Given the description of an element on the screen output the (x, y) to click on. 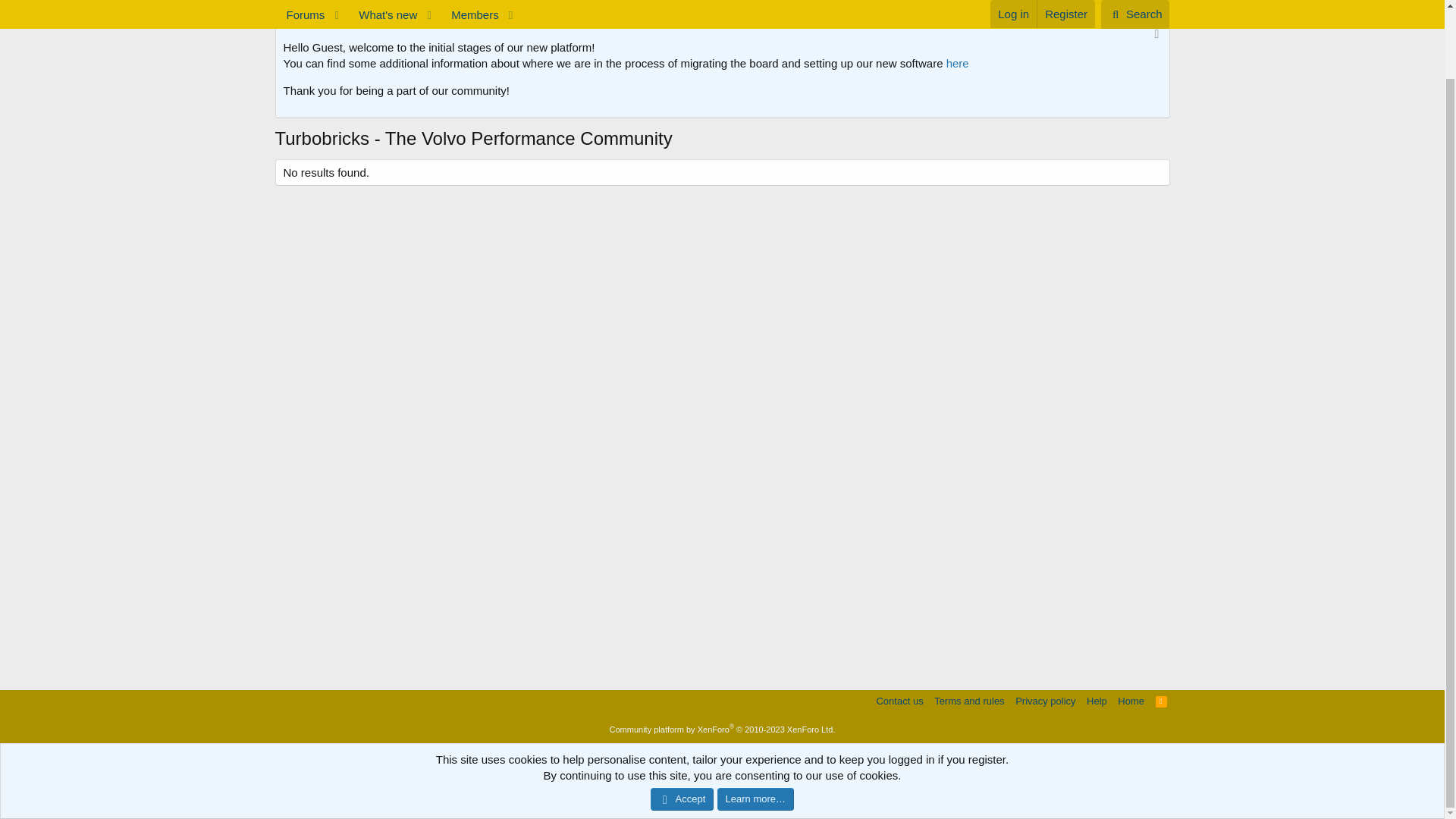
here (957, 62)
Latest activity (303, 5)
Privacy policy (1044, 700)
Register (364, 5)
Terms and rules (969, 700)
RSS (1161, 700)
Contact us (899, 700)
Accept (681, 722)
RSS (720, 5)
Help (1161, 700)
Home (1096, 700)
